Given the description of an element on the screen output the (x, y) to click on. 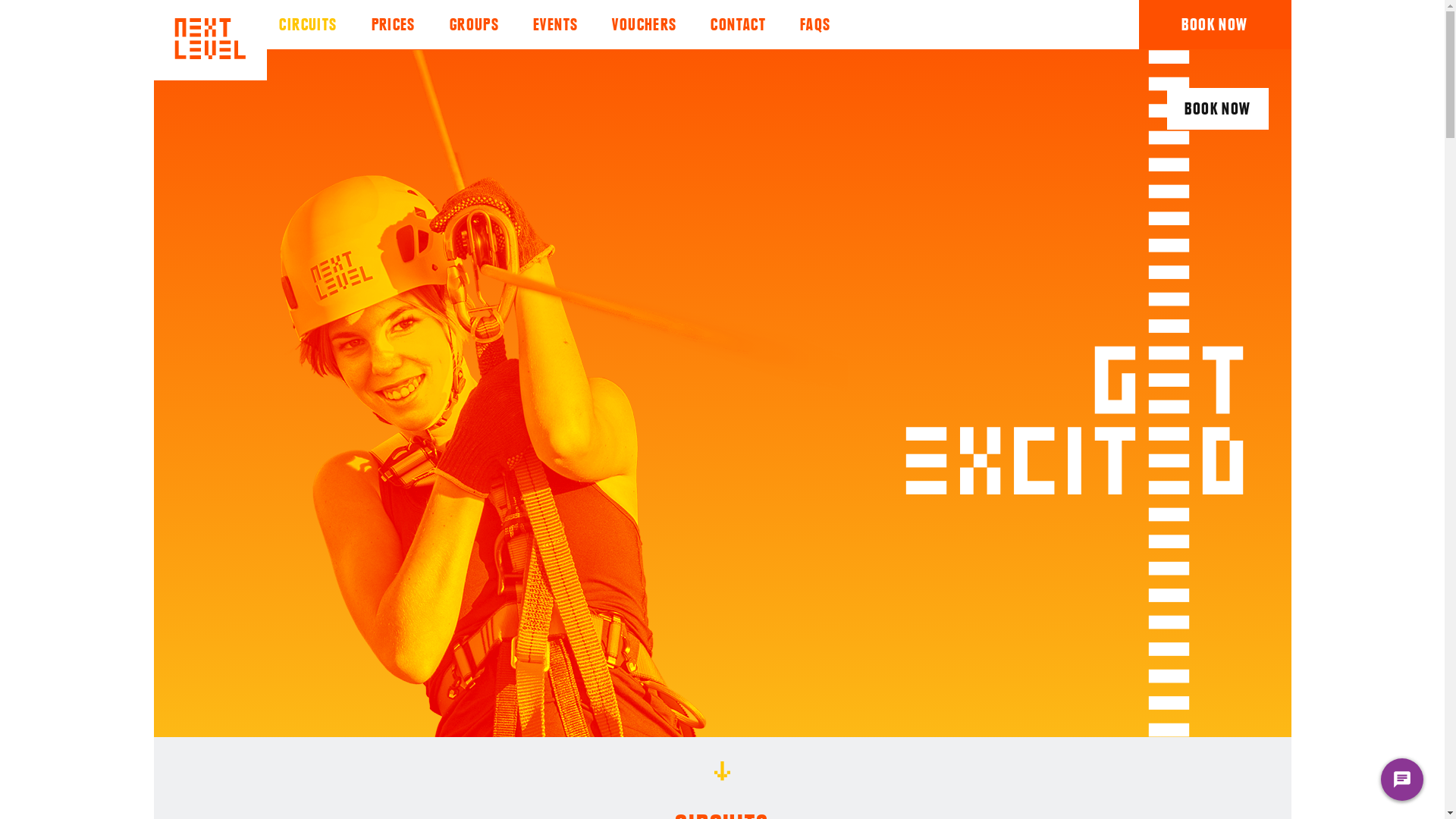
Genesys Messenger Launcher Element type: hover (1401, 782)
BOOK NOW Element type: text (1217, 108)
